Given the description of an element on the screen output the (x, y) to click on. 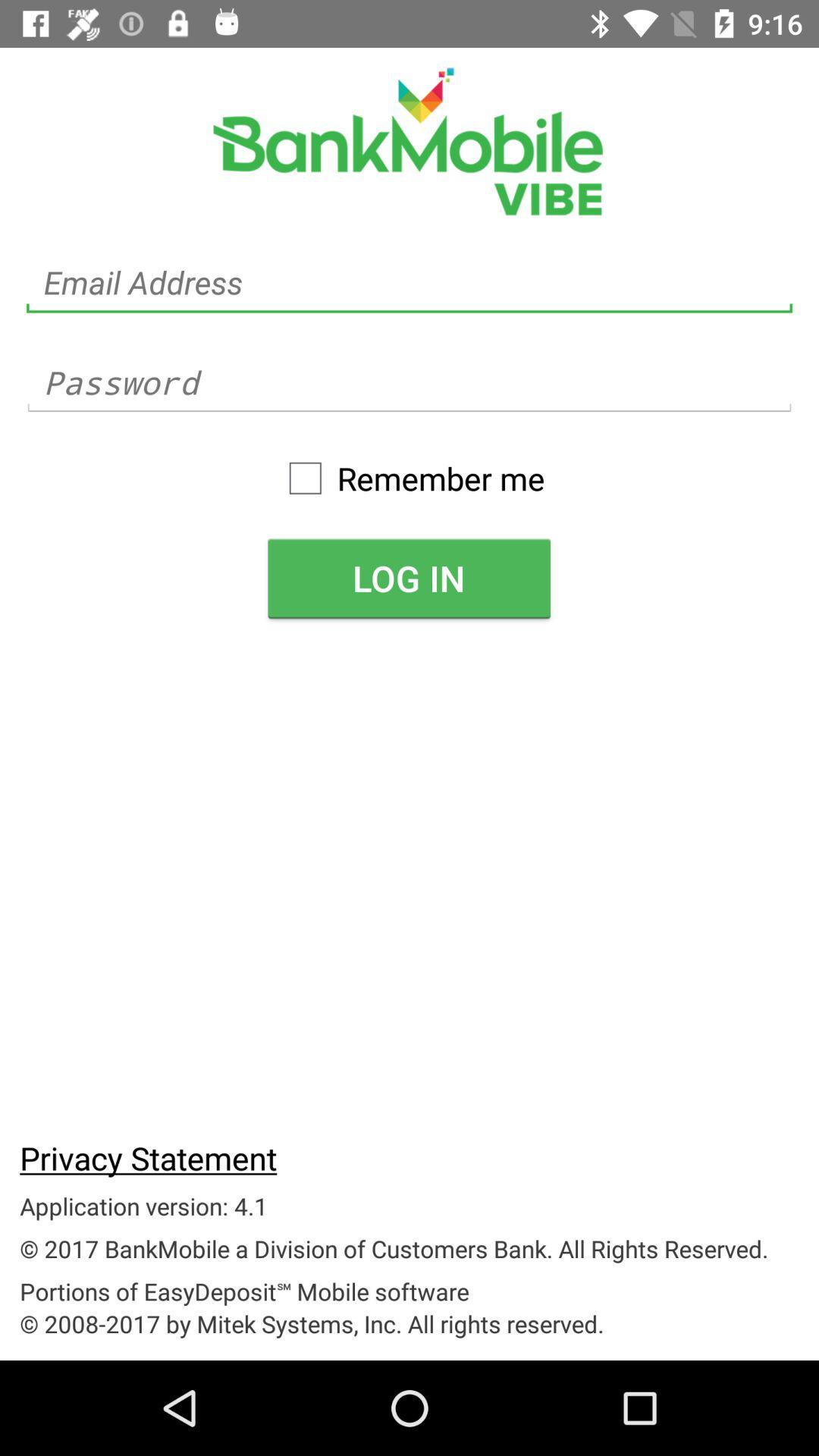
open log in item (408, 578)
